Given the description of an element on the screen output the (x, y) to click on. 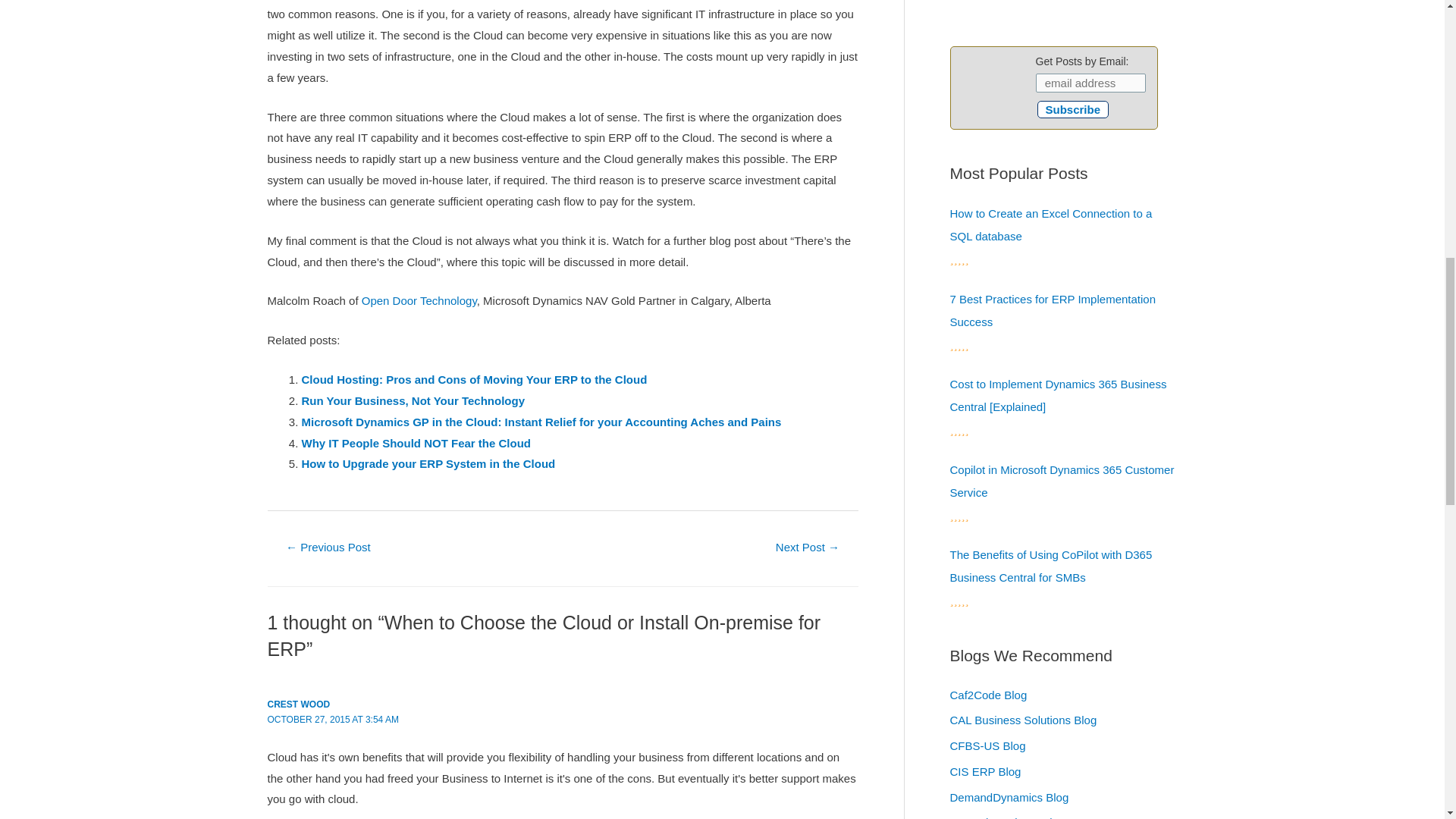
3 People-oriented Aspects of a Successful ERP implementation (327, 548)
6 Qualities That Make a Good Project Manager (807, 548)
Caf2Code Blog (987, 694)
Subscribe (1072, 108)
Why IT People Should NOT Fear the Cloud (416, 442)
How to Upgrade your ERP System in the Cloud (428, 463)
Cloud Hosting: Pros and Cons of Moving Your ERP to the Cloud (474, 379)
CFBS-US Blog  (987, 745)
Run Your Business, Not Your Technology (412, 400)
